Given the description of an element on the screen output the (x, y) to click on. 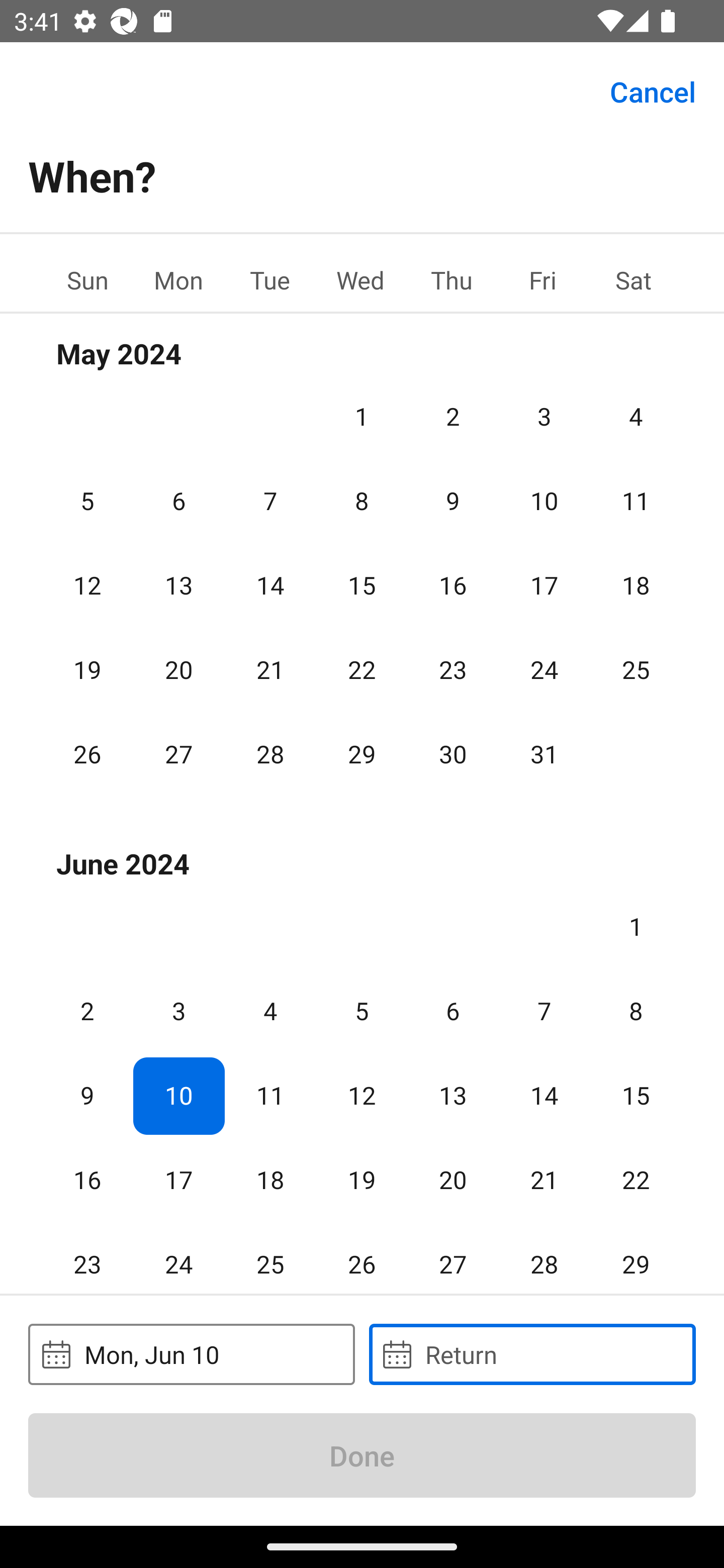
Cancel (652, 90)
Mon, Jun 10 (191, 1353)
Return (532, 1353)
Done (361, 1454)
